Given the description of an element on the screen output the (x, y) to click on. 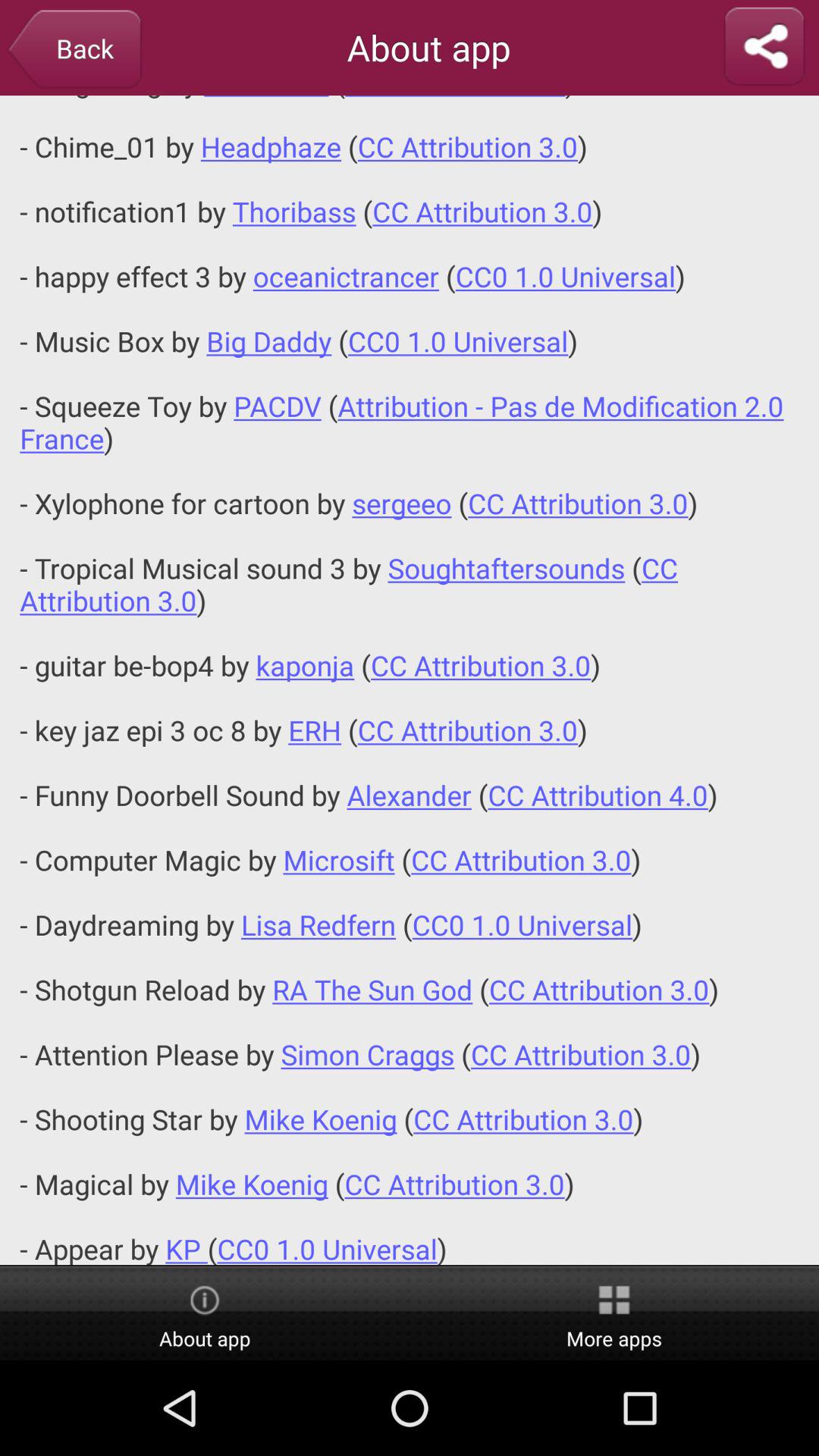
press icon at the top right corner (764, 47)
